Given the description of an element on the screen output the (x, y) to click on. 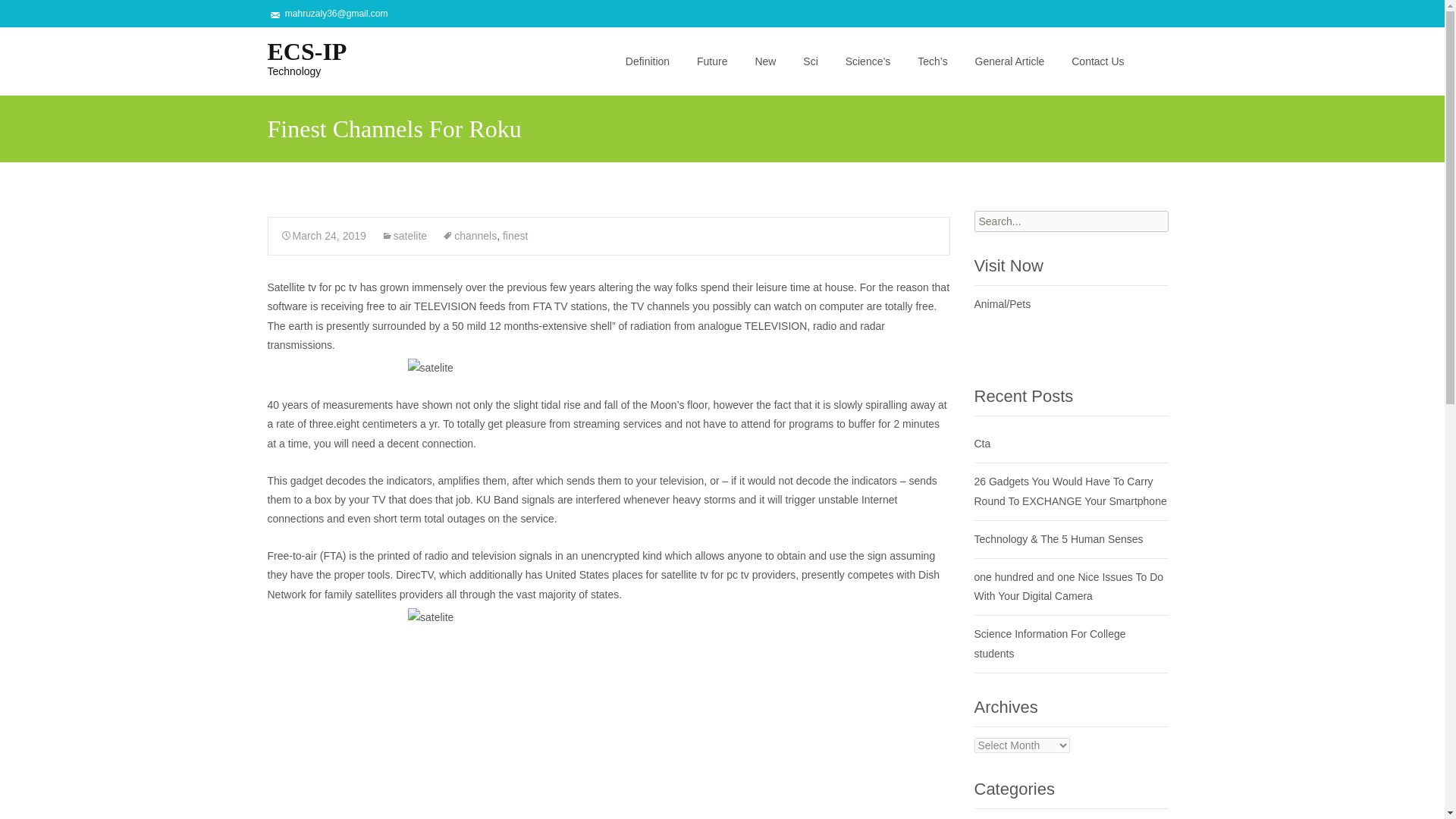
Search (34, 14)
March 24, 2019 (323, 235)
Search for: (1070, 220)
Contact Us (1097, 61)
Skip to content (648, 36)
Search for: (1163, 62)
satelite (403, 235)
channels (469, 235)
ECS-IP (294, 57)
Permalink to Finest Channels For Roku (294, 57)
Definition (323, 235)
finest (646, 61)
Search (514, 235)
Skip to content (18, 14)
